Given the description of an element on the screen output the (x, y) to click on. 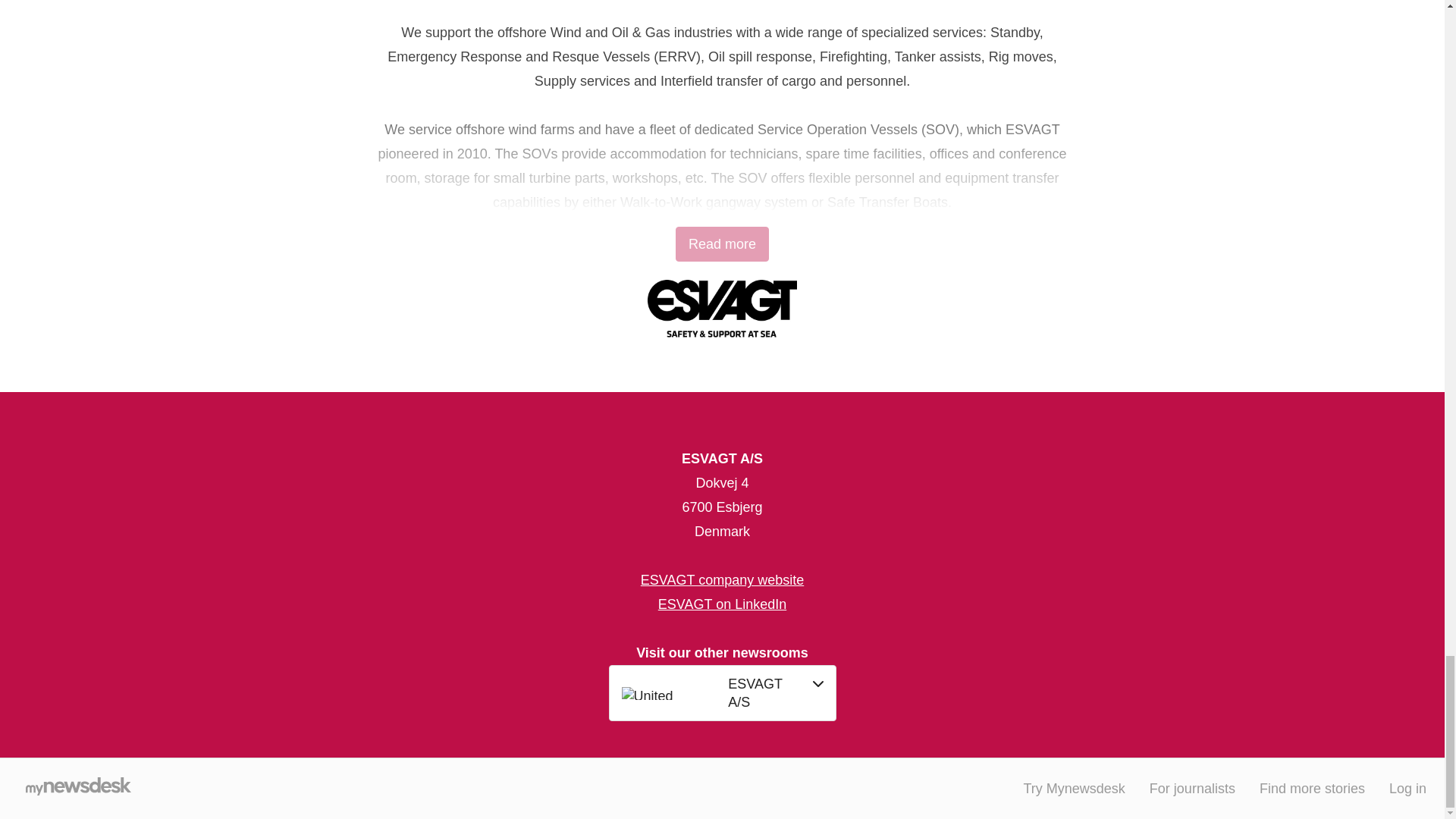
ESVAGT company website (721, 580)
Read more (721, 243)
United Kingdom (670, 693)
ESVAGT on LinkedIn (722, 604)
